Given the description of an element on the screen output the (x, y) to click on. 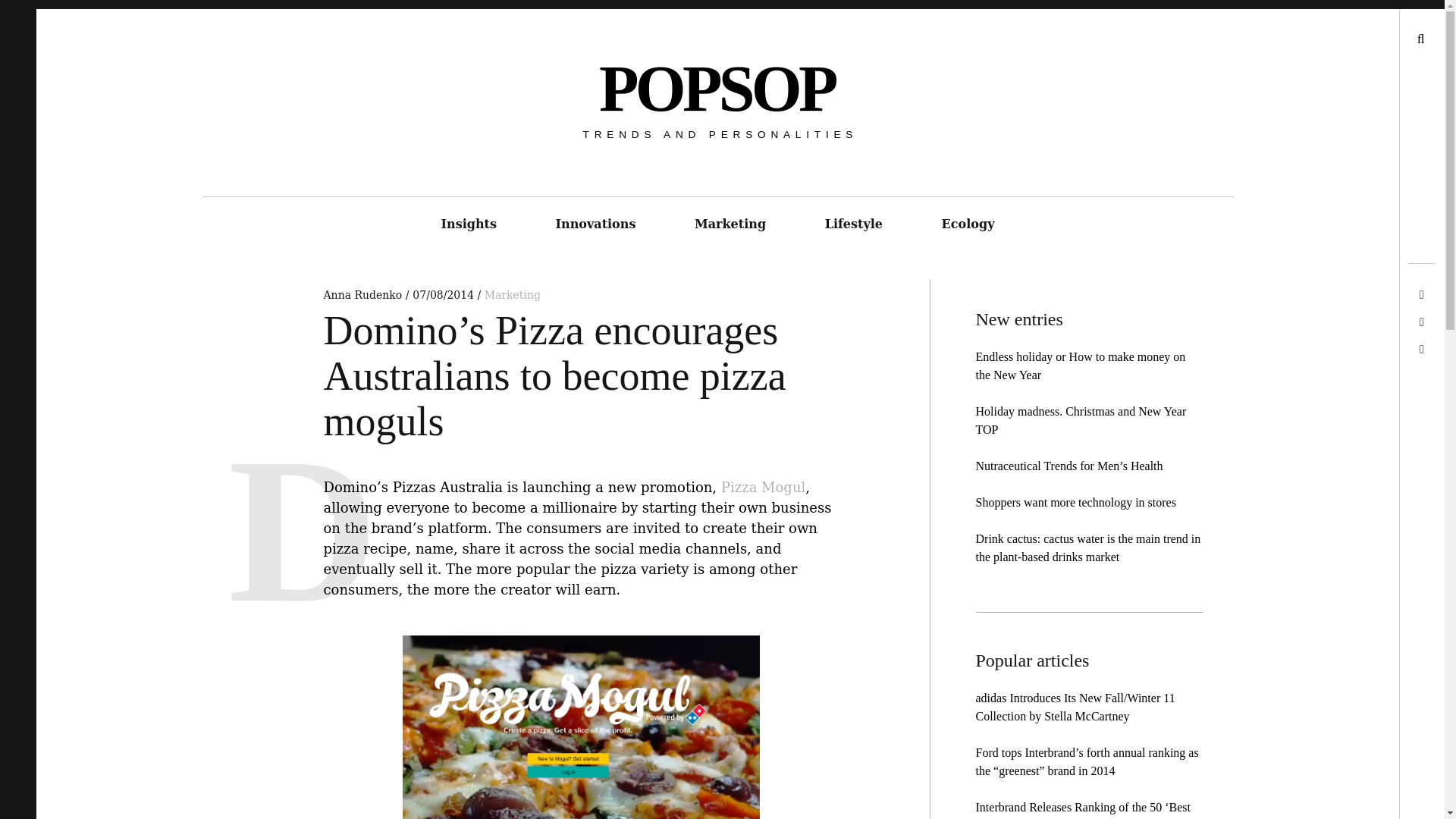
Endless holiday or How to make money on the New Year (1080, 365)
Holiday madness. Christmas and New Year TOP (1080, 419)
Shoppers want more technology in stores (1074, 502)
POPSOP (716, 88)
Innovations (595, 224)
Ecology (968, 224)
Marketing (512, 295)
Pizza Mogul (762, 487)
Lifestyle (853, 224)
Anna Rudenko (363, 295)
Marketing (729, 224)
Insights (468, 224)
